Given the description of an element on the screen output the (x, y) to click on. 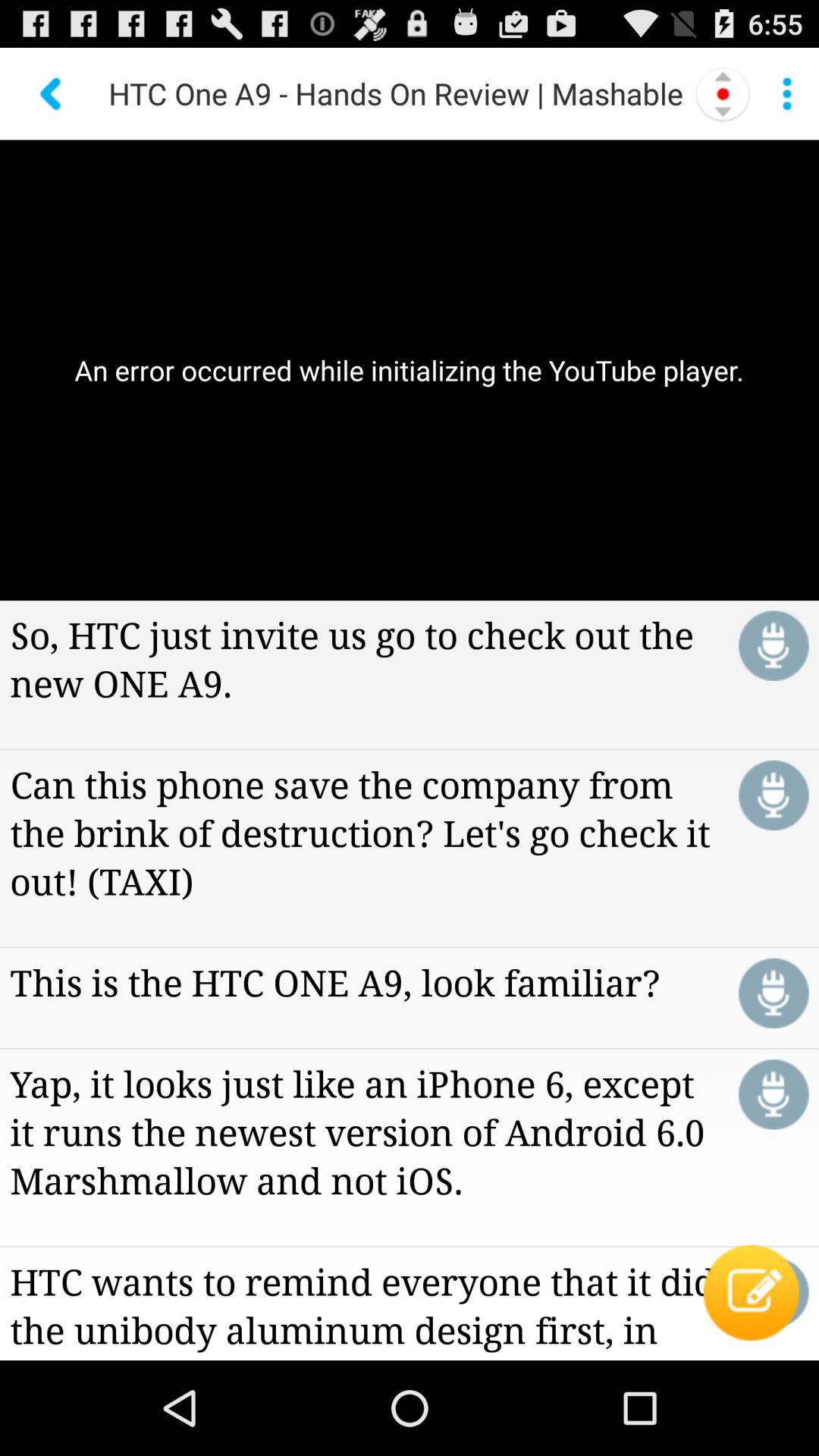
tap icon above an error occurred icon (723, 93)
